Given the description of an element on the screen output the (x, y) to click on. 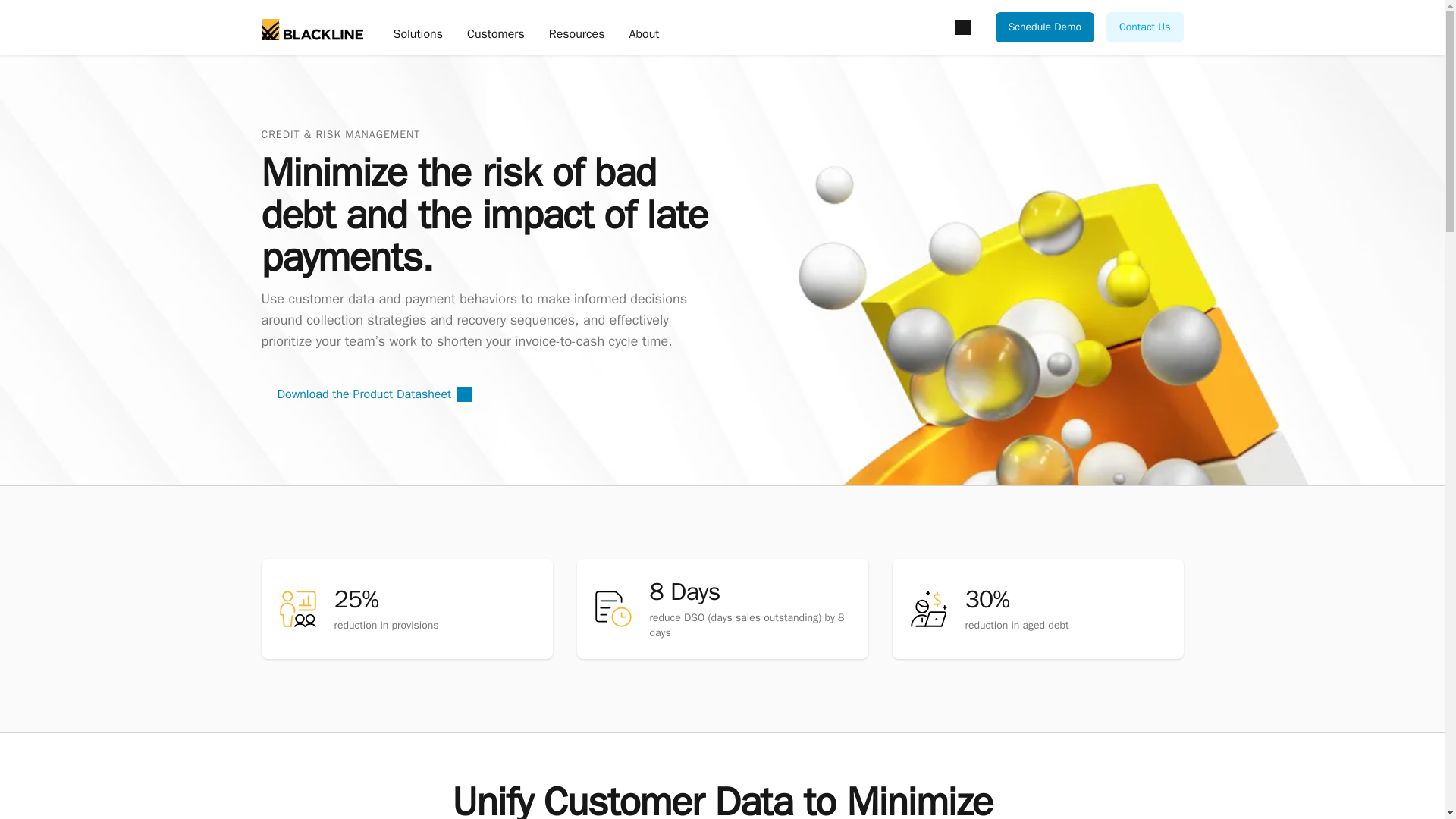
Download the Product Datasheet (373, 393)
Contact Us (1144, 27)
Resources (576, 34)
Solutions (417, 34)
Schedule Demo (1044, 27)
Customers (495, 34)
